Given the description of an element on the screen output the (x, y) to click on. 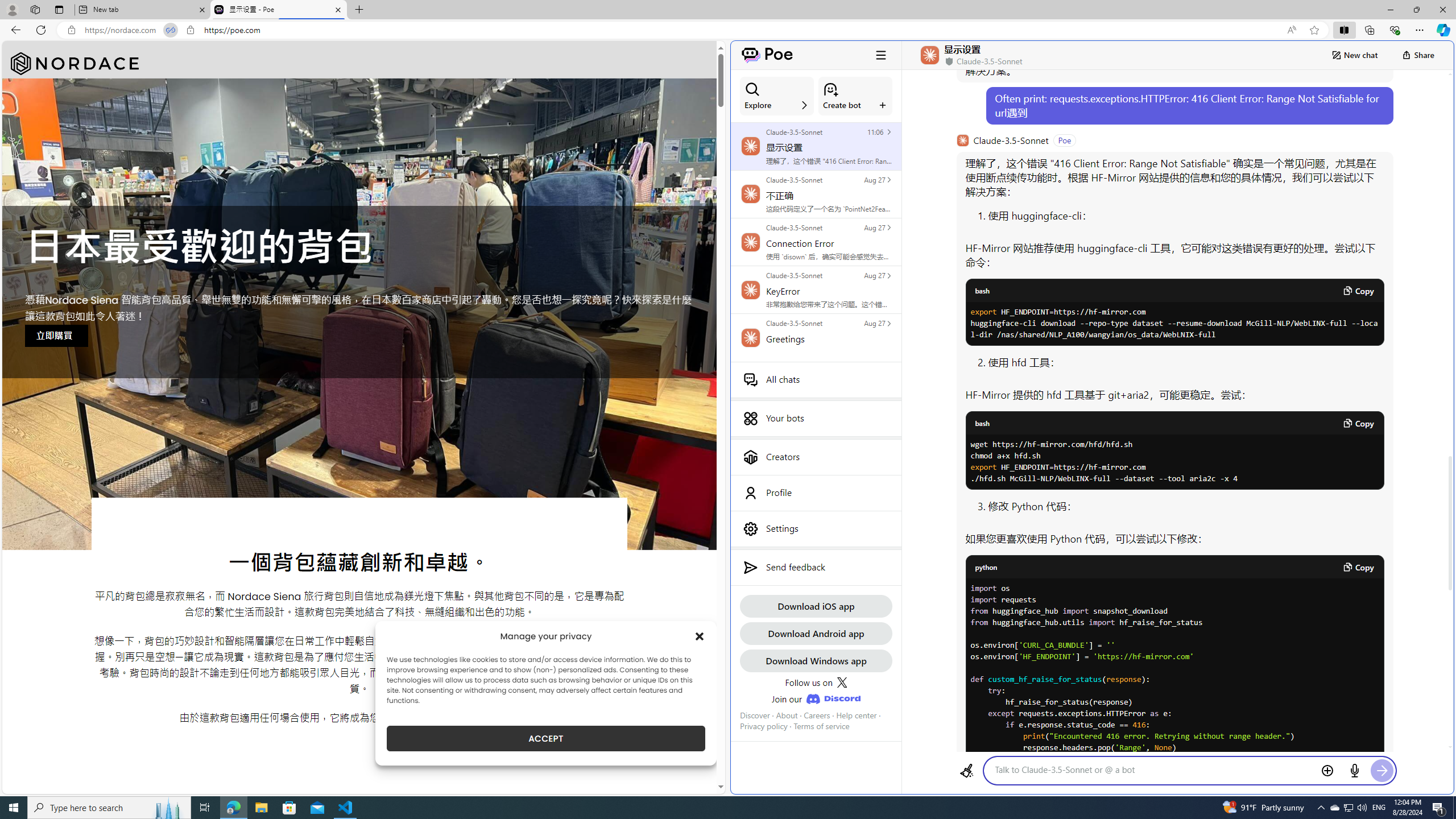
Poe (766, 55)
Your bots (815, 418)
Toggle sidebar collapse (880, 54)
ACCEPT (545, 738)
Class: FollowTwitterLink_twitterIconBlack__SS_7V (842, 682)
Settings (815, 528)
Class: JoinDiscordLink_discordIcon__Xw13A (833, 698)
